Given the description of an element on the screen output the (x, y) to click on. 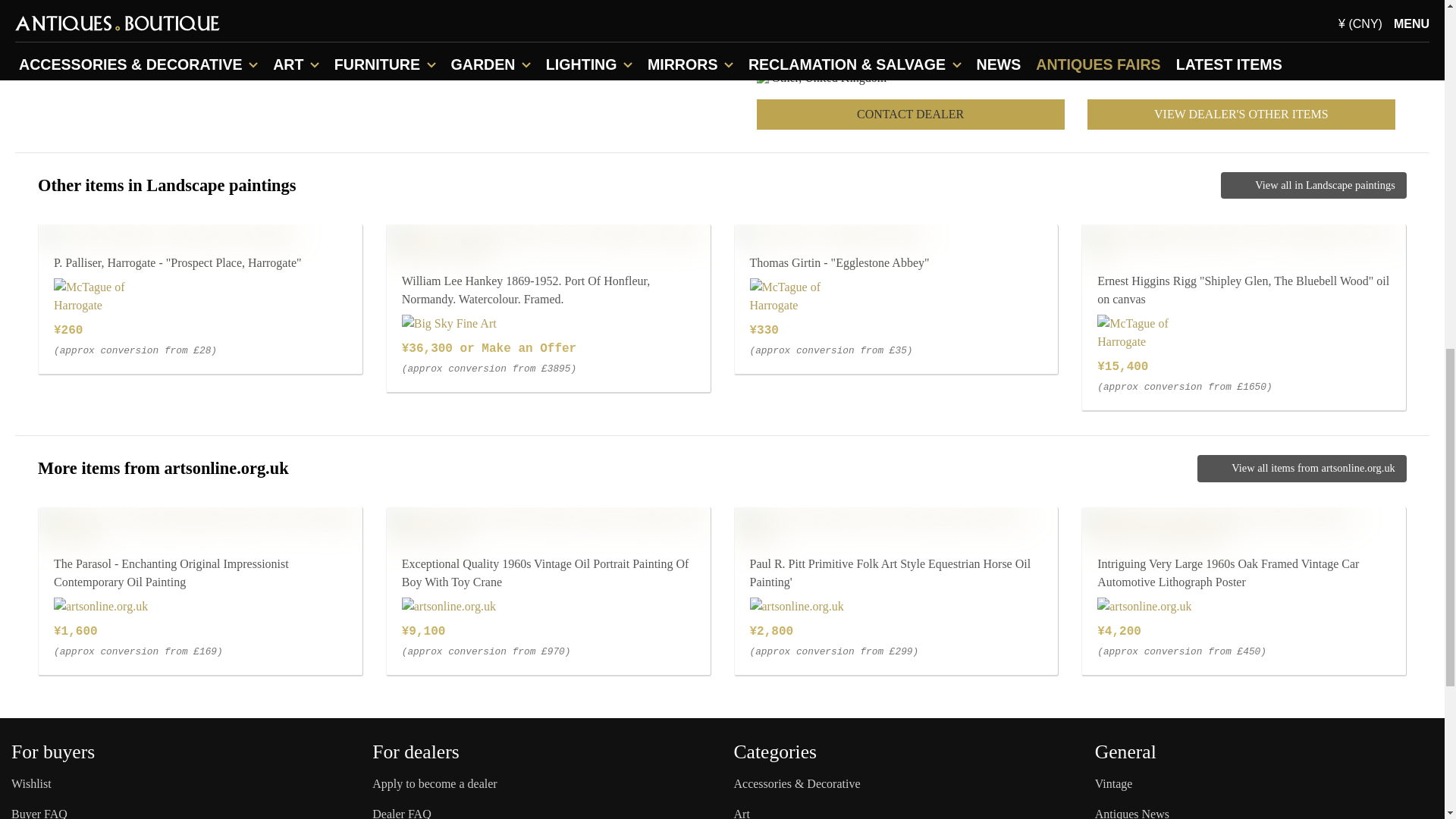
P. Palliser, Harrogate - "Prospect Place, Harrogate" (168, 233)
Thomas Girtin - "Egglestone Abbey" (829, 233)
